Given the description of an element on the screen output the (x, y) to click on. 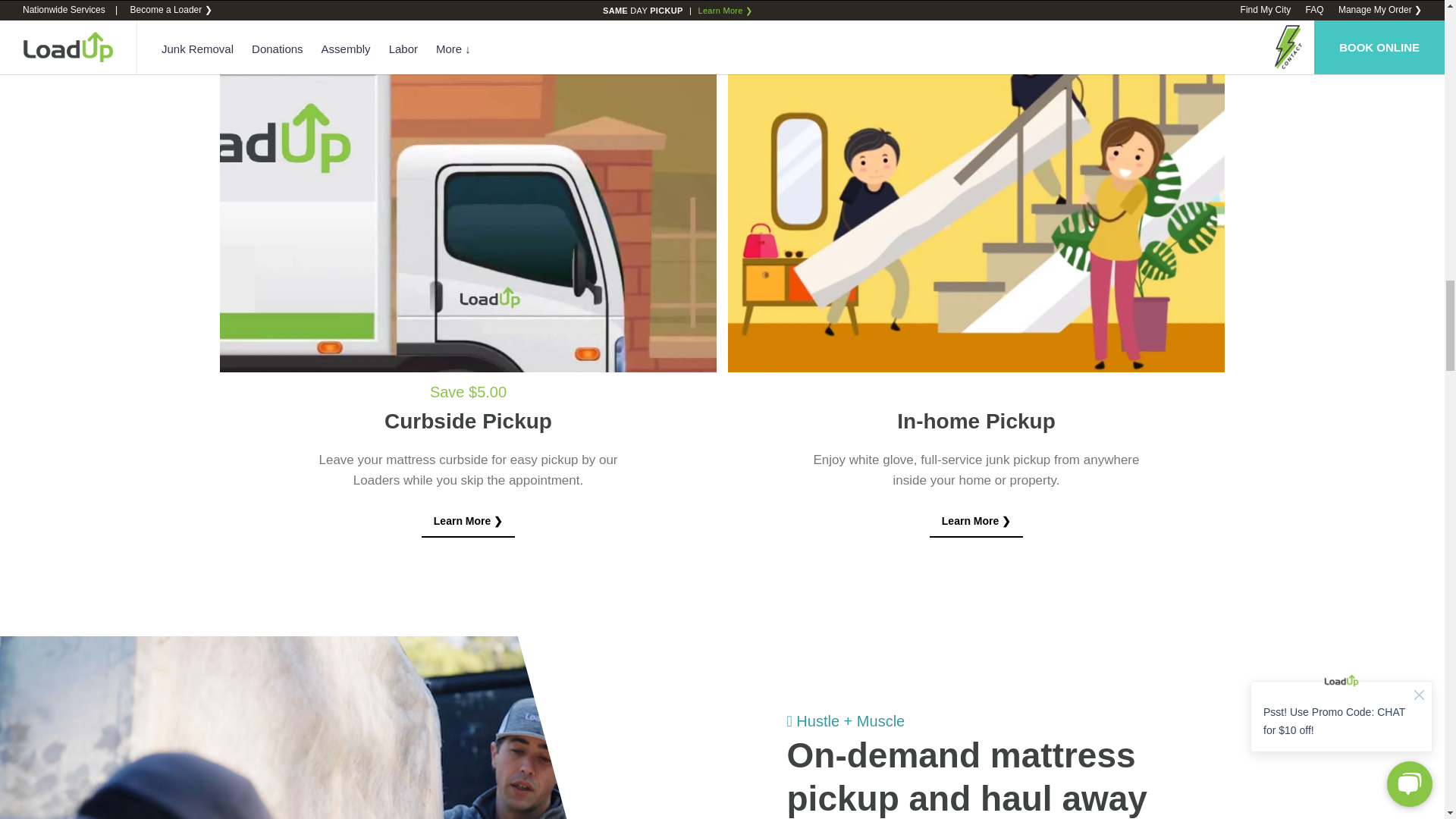
Learn more about our in-home pickup services (976, 521)
Learn more about our curbside pickup services (468, 521)
